Given the description of an element on the screen output the (x, y) to click on. 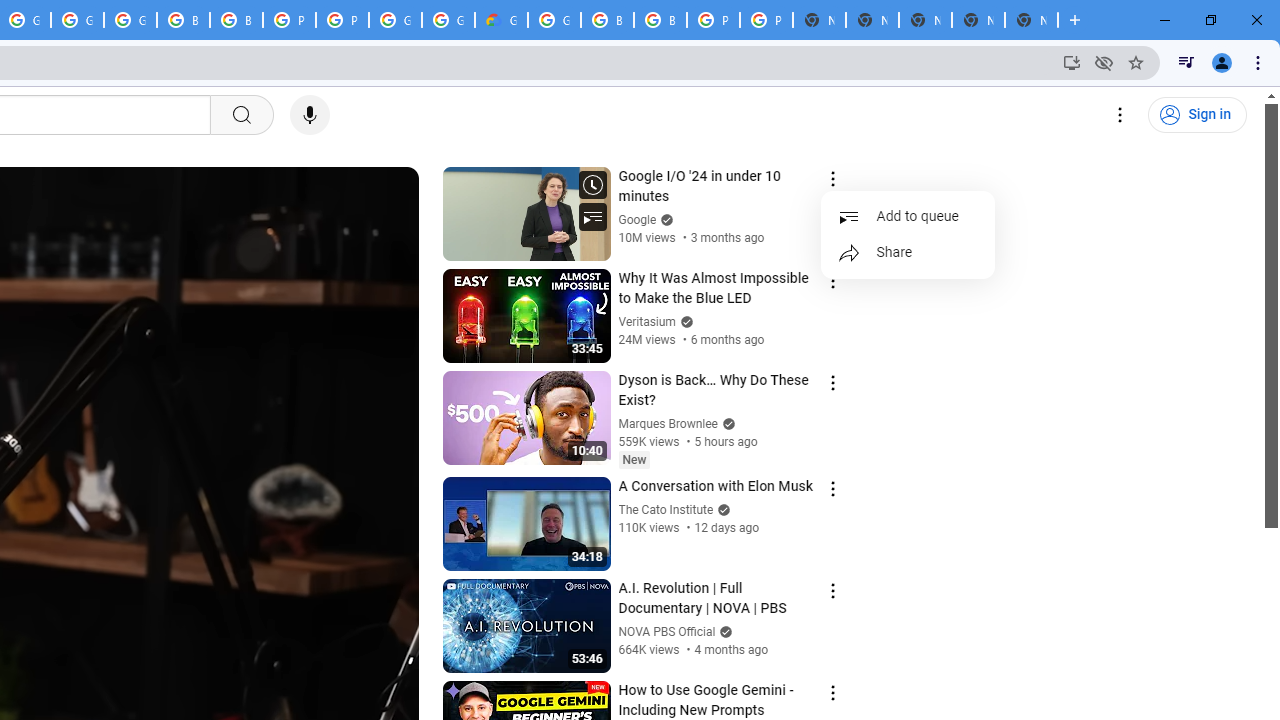
Share (907, 252)
New (634, 459)
Browse Chrome as a guest - Computer - Google Chrome Help (607, 20)
Google Cloud Platform (448, 20)
Search with your voice (309, 115)
Google Cloud Estimate Summary (501, 20)
Google Cloud Platform (395, 20)
Install YouTube (1071, 62)
